Given the description of an element on the screen output the (x, y) to click on. 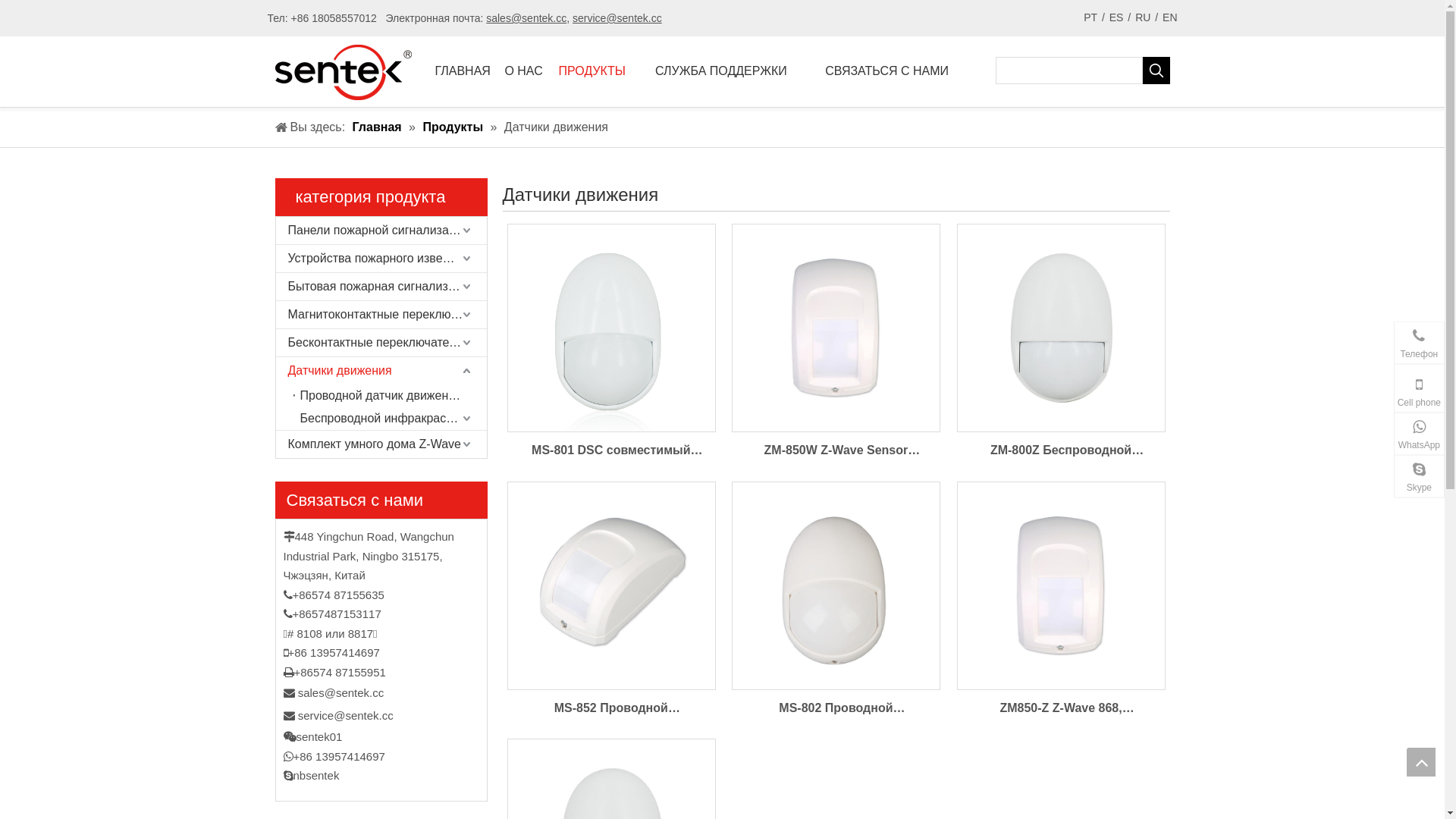
sales@sentek.cc Element type: text (526, 18)
service@sentek.cc Element type: text (345, 715)
Skype Element type: text (1418, 476)
EN Element type: text (1169, 18)
+86574 87155635 Element type: text (1335, 355)
Cell phone Element type: text (1418, 388)
service@sentek.cc Element type: text (617, 18)
+86 18058557012 Element type: text (1335, 388)
RU Element type: text (1142, 18)
nbsentek Element type: text (1356, 479)
top Element type: text (1420, 761)
ES Element type: text (1116, 18)
+86 13957414697 Element type: text (1335, 437)
WhatsApp Element type: text (1418, 433)
sales@sentek.cc Element type: text (341, 692)
PT Element type: text (1090, 18)
